Given the description of an element on the screen output the (x, y) to click on. 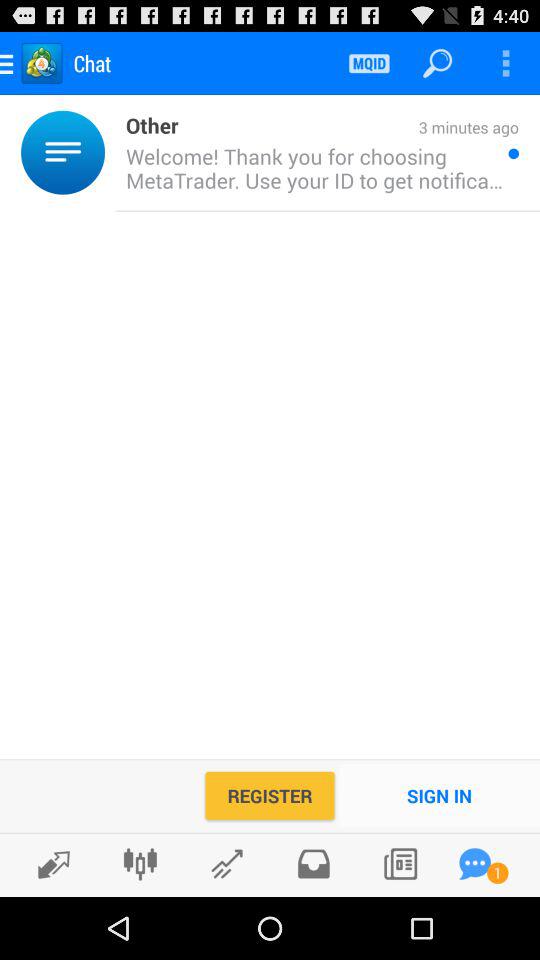
view news (400, 863)
